Given the description of an element on the screen output the (x, y) to click on. 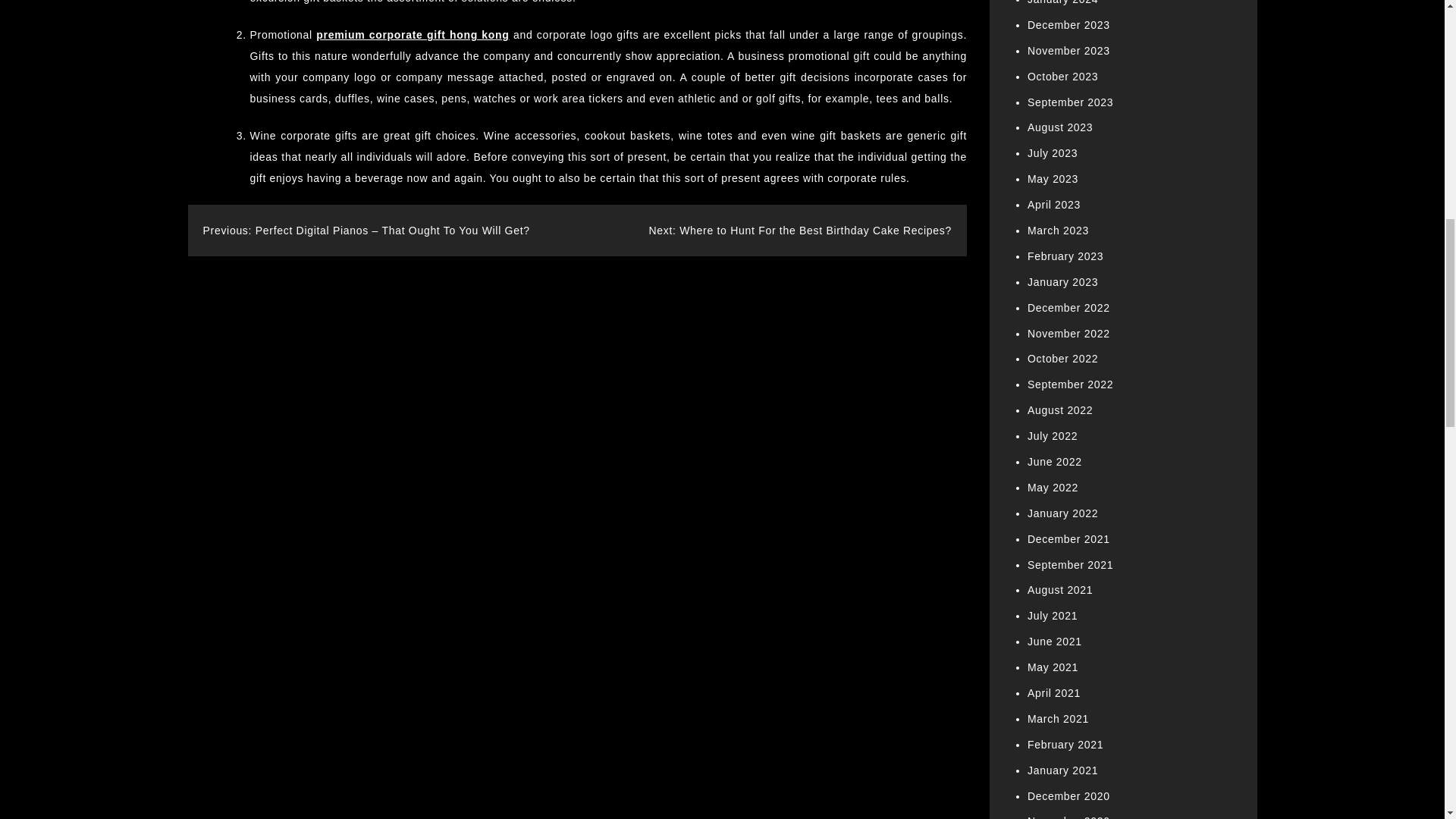
February 2023 (1065, 256)
July 2023 (1052, 152)
December 2023 (1068, 24)
December 2022 (1068, 307)
April 2023 (1053, 204)
October 2023 (1062, 76)
November 2022 (1068, 333)
January 2024 (1062, 2)
March 2023 (1058, 230)
September 2023 (1070, 101)
November 2023 (1068, 50)
August 2023 (1060, 127)
January 2023 (1062, 282)
May 2023 (1052, 178)
premium corporate gift hong kong (411, 34)
